Given the description of an element on the screen output the (x, y) to click on. 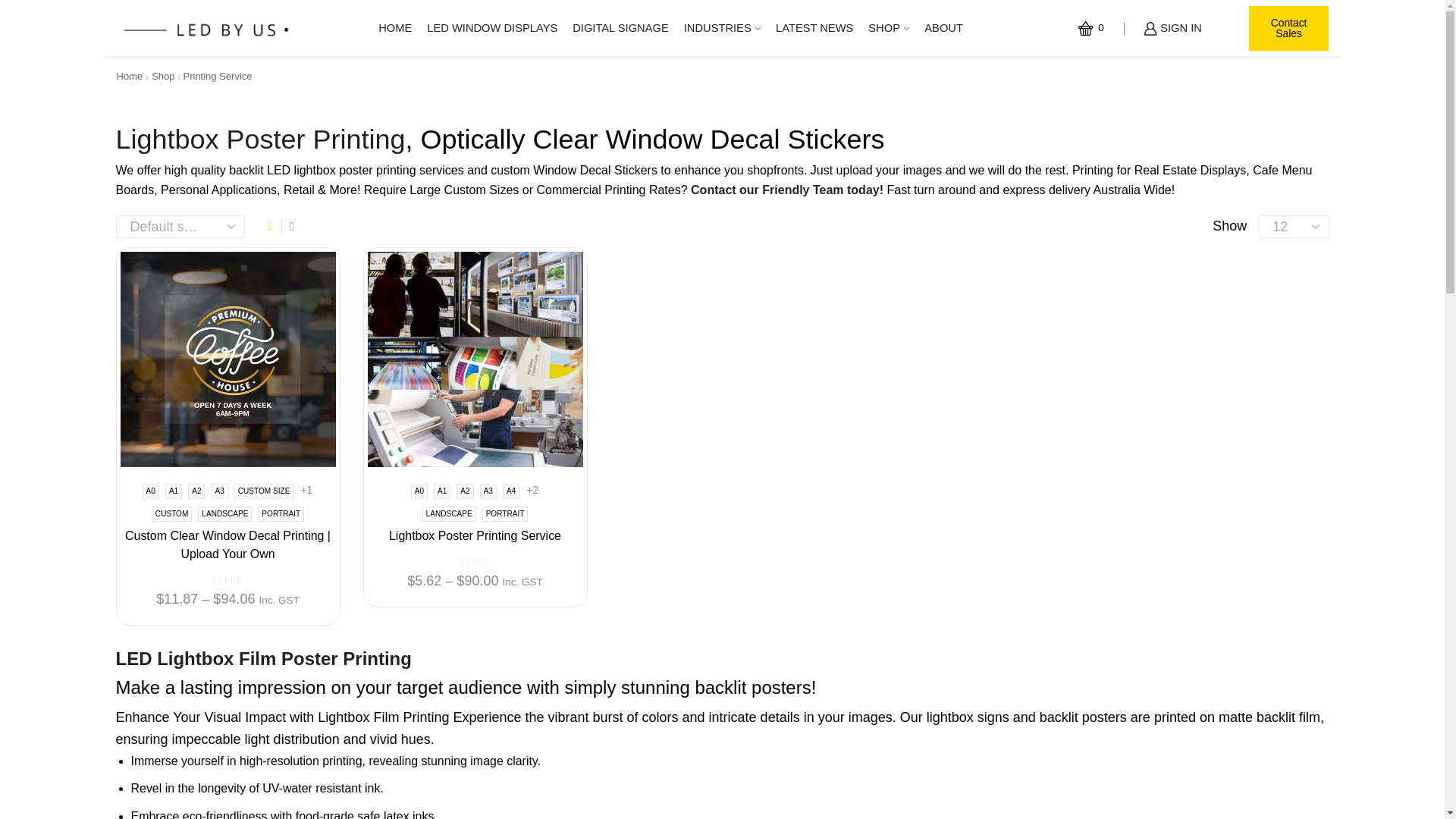
DIGITAL SIGNAGE (620, 28)
Contact Sales (1289, 28)
SIGN IN (1172, 28)
SHOP (888, 28)
LED WINDOW DISPLAYS (491, 28)
0 (1093, 27)
ABOUT (944, 28)
INDUSTRIES (722, 28)
LATEST NEWS (814, 28)
HOME (395, 28)
